Given the description of an element on the screen output the (x, y) to click on. 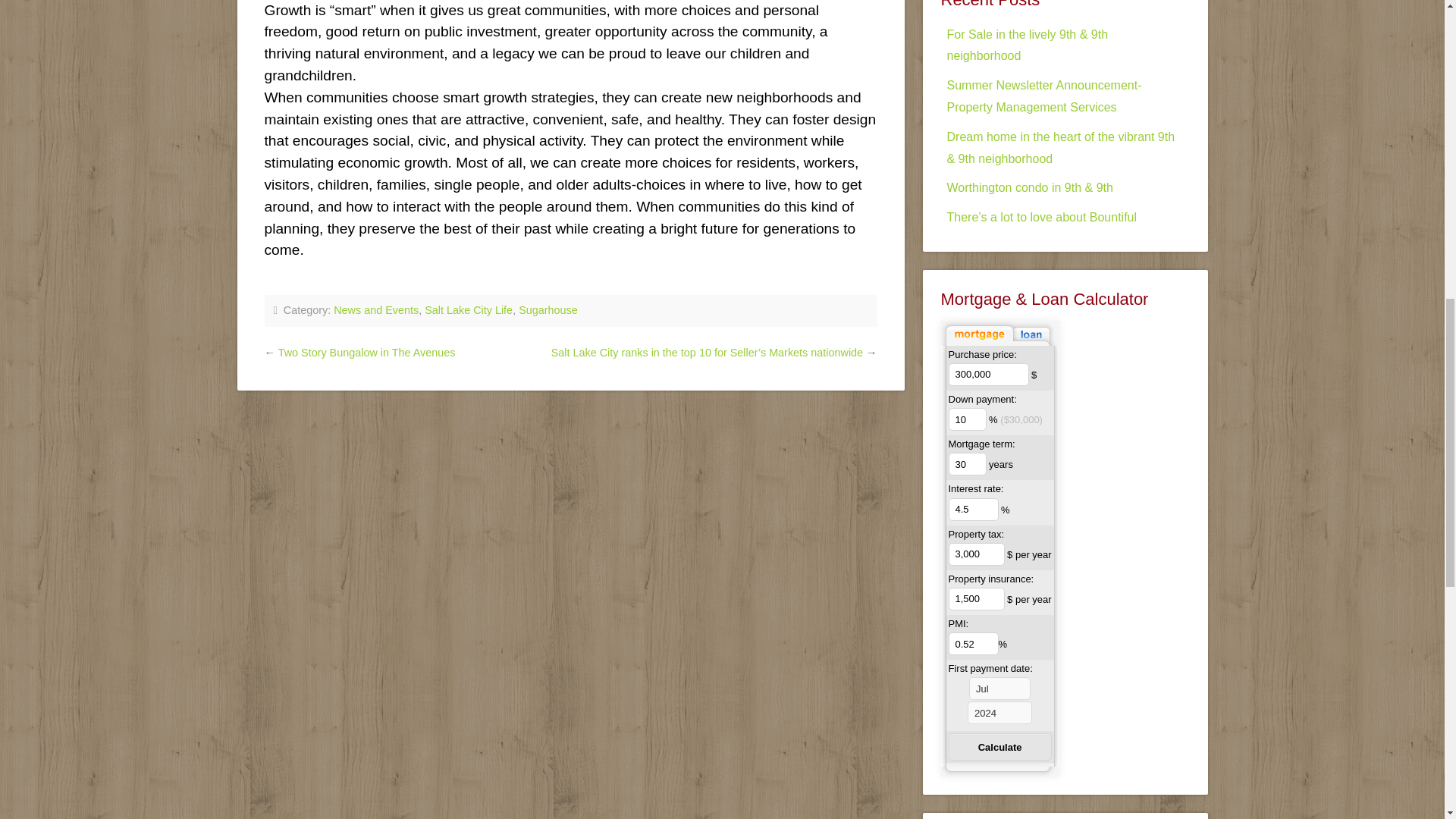
3,000 (975, 553)
Mortgage Calculator (997, 342)
Two Story Bungalow in The Avenues (366, 352)
10 (966, 418)
News and Events (376, 309)
0.52 (972, 643)
Summer Newsletter Announcement-Property Management Services (1043, 95)
300,000 (987, 374)
Calculate (999, 746)
Salt Lake City Life (468, 309)
4.5 (972, 508)
Sugarhouse (548, 309)
30 (966, 463)
1,500 (975, 599)
